Given the description of an element on the screen output the (x, y) to click on. 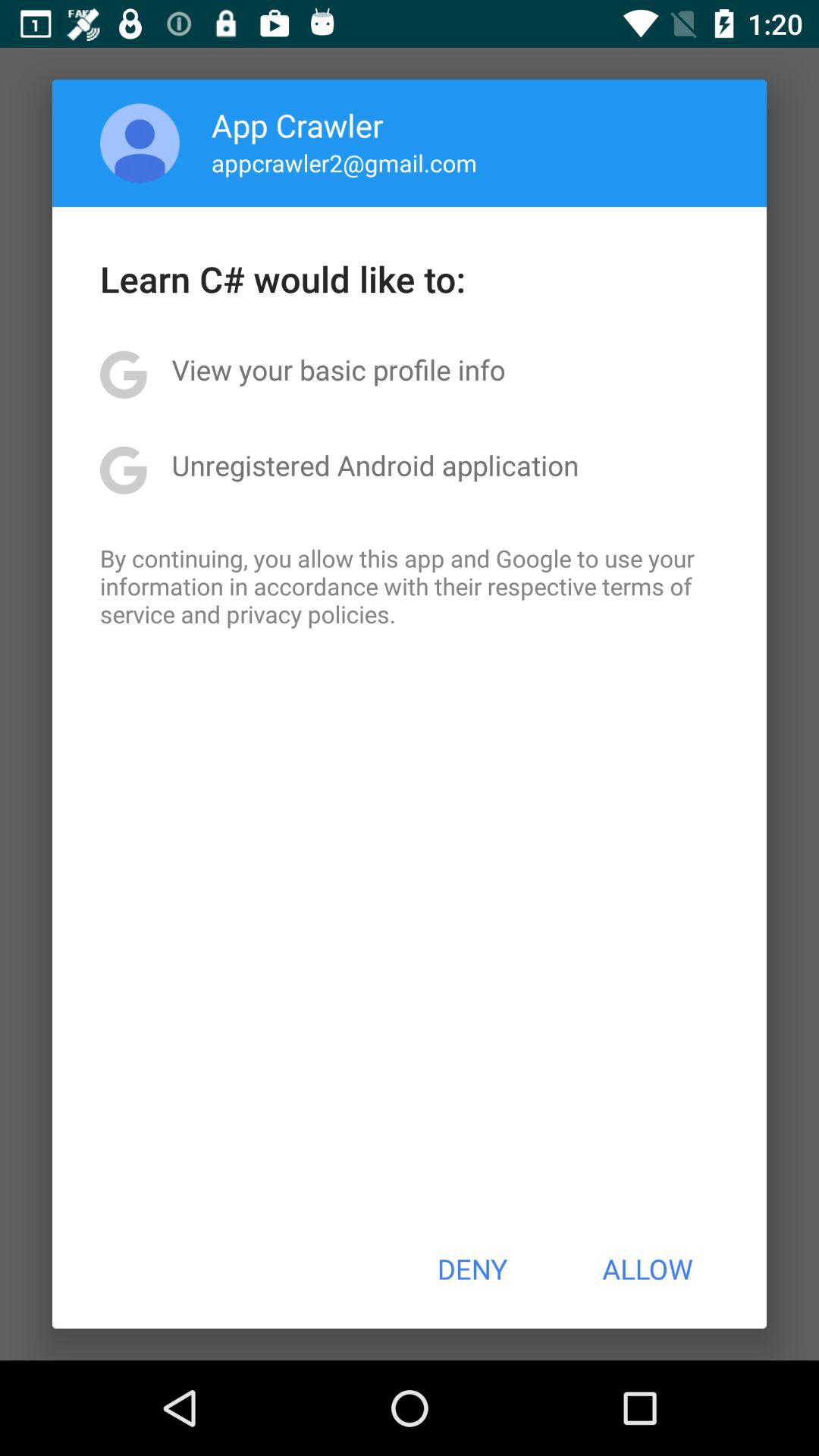
click icon to the left of allow button (471, 1268)
